Given the description of an element on the screen output the (x, y) to click on. 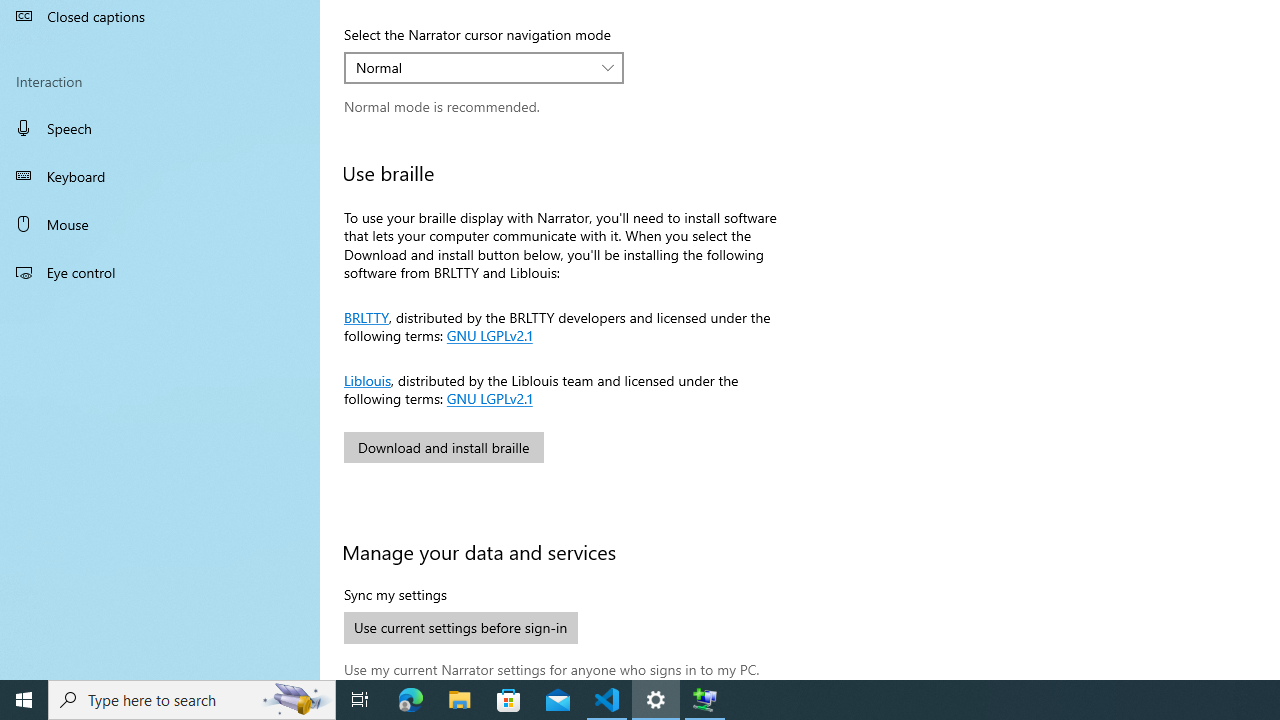
Extensible Wizards Host Process - 1 running window (704, 699)
Keyboard (160, 175)
BRLTTY (365, 315)
Use current settings before sign-in (461, 627)
Search highlights icon opens search home window (295, 699)
Normal (473, 67)
Download and install braille (444, 447)
